Given the description of an element on the screen output the (x, y) to click on. 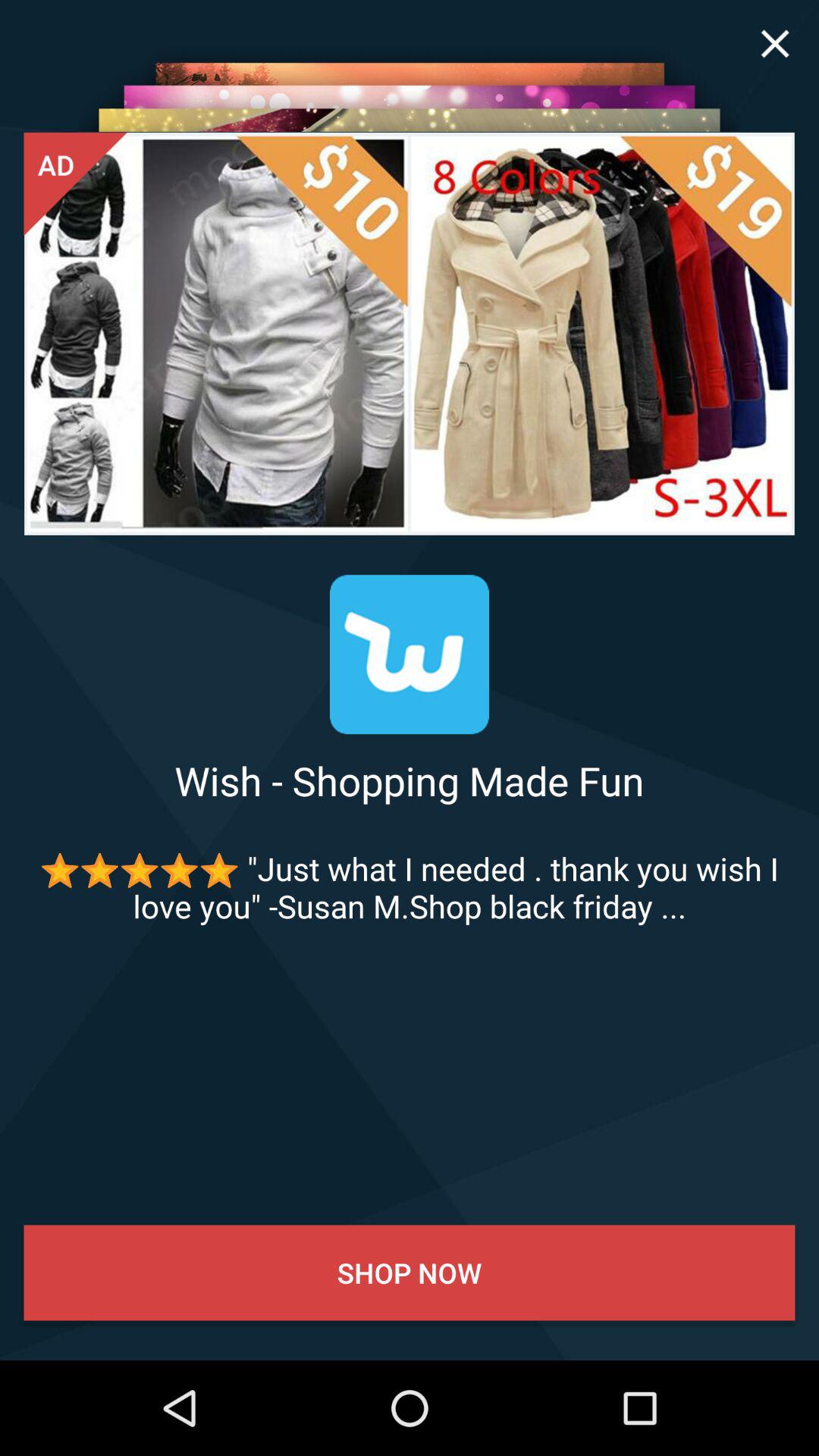
launch icon at the top right corner (775, 43)
